Given the description of an element on the screen output the (x, y) to click on. 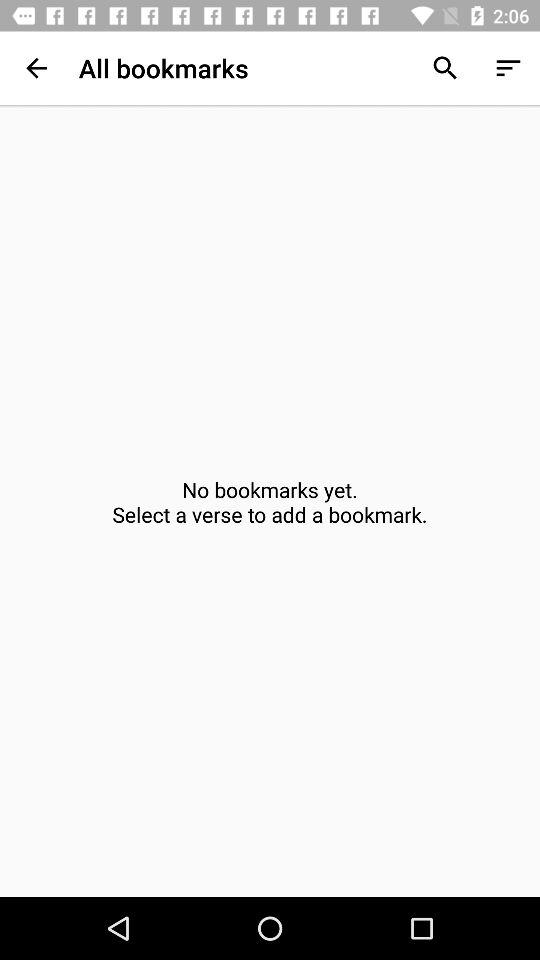
click the item to the left of all bookmarks app (36, 68)
